Given the description of an element on the screen output the (x, y) to click on. 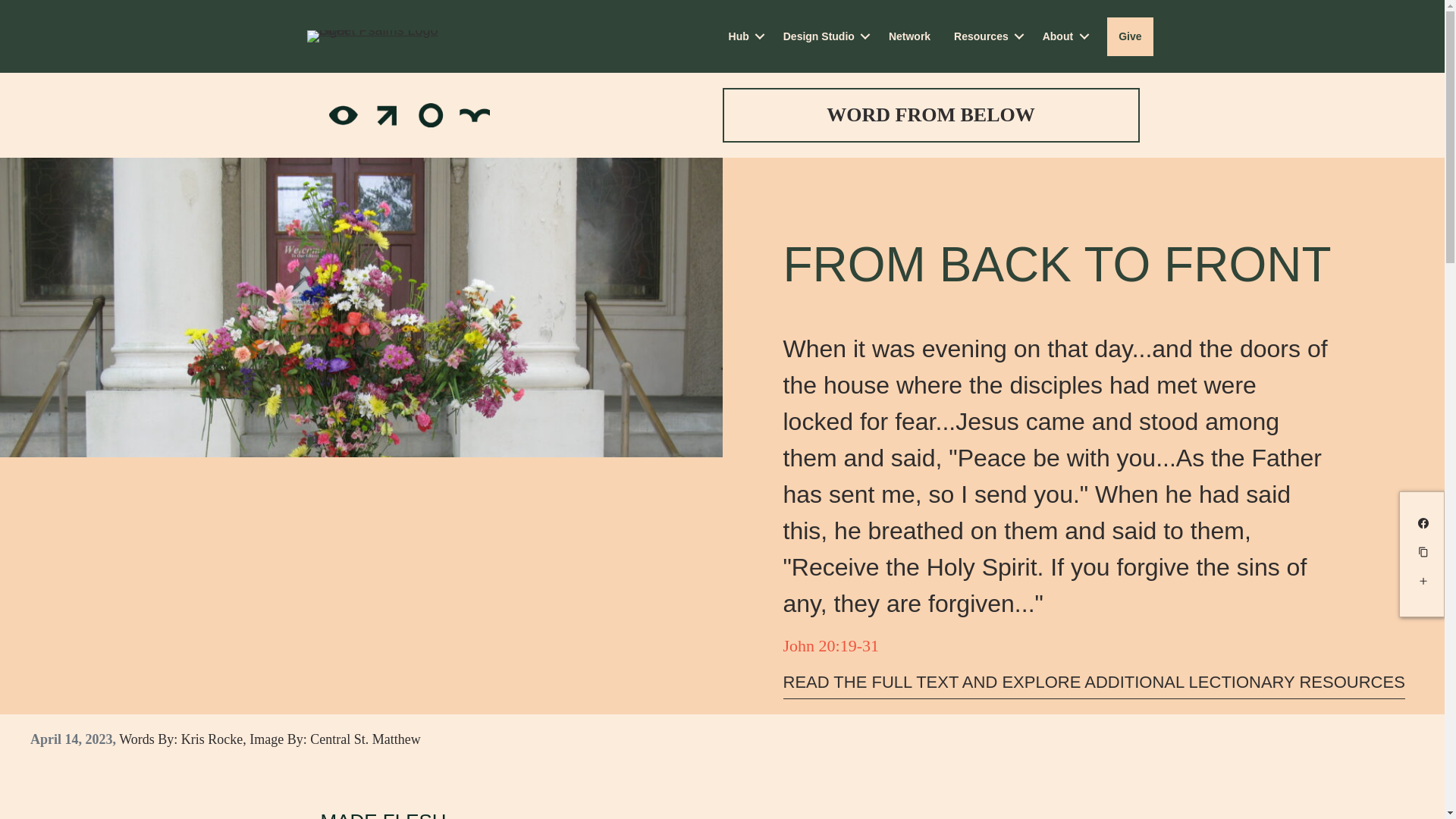
Resources (986, 35)
Network (909, 35)
Design Studio (823, 35)
Give (1129, 35)
Hub (744, 35)
About (1062, 35)
WORD FROM BELOW (930, 115)
